Given the description of an element on the screen output the (x, y) to click on. 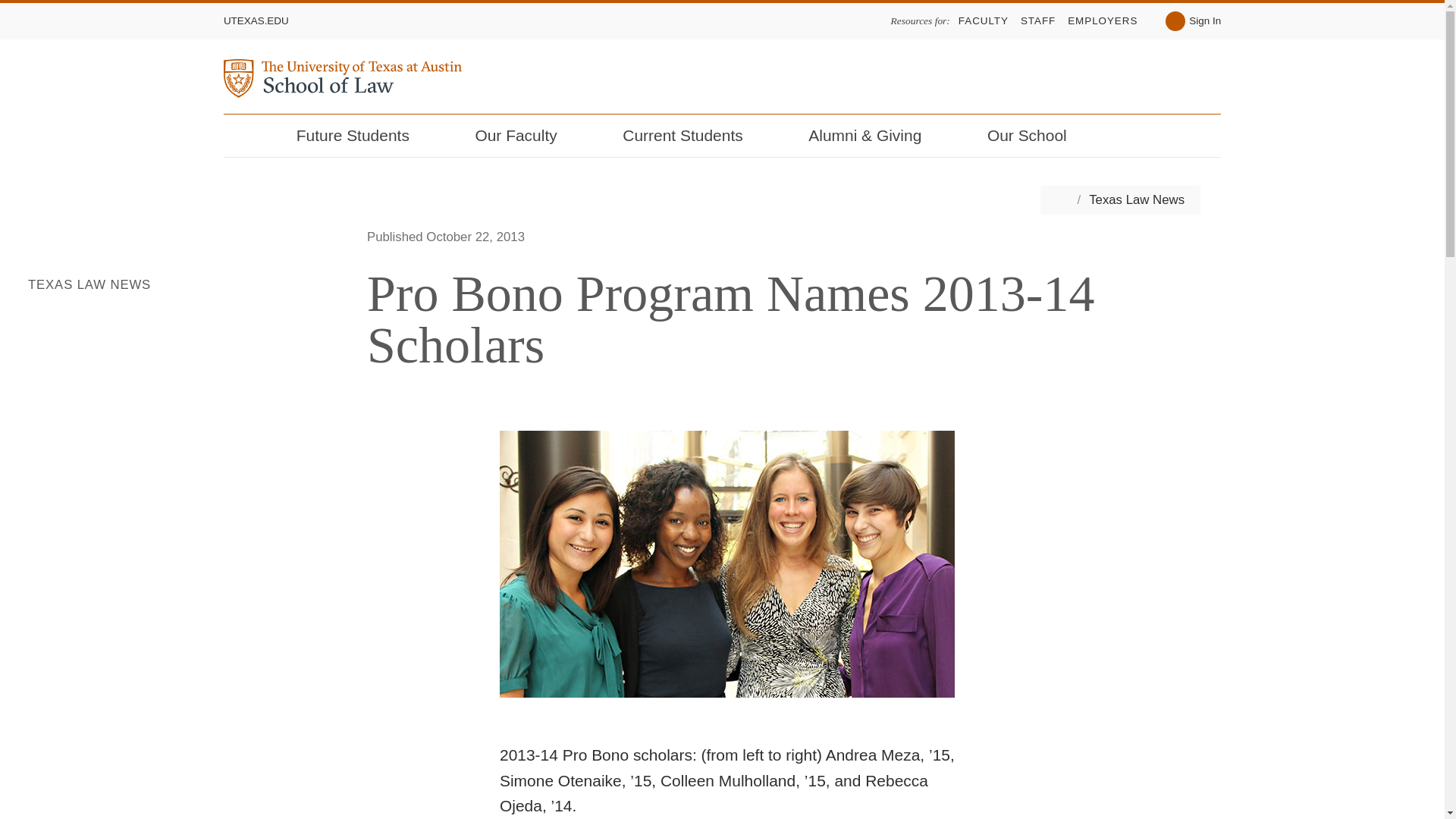
Future Students (362, 135)
STAFF (1037, 20)
FACULTY (983, 20)
Current Students (692, 135)
Skip to Main Content (21, 4)
Sign In (1193, 21)
UTEXAS.EDU (256, 20)
EMPLOYERS (1102, 20)
Our Faculty (526, 135)
